Given the description of an element on the screen output the (x, y) to click on. 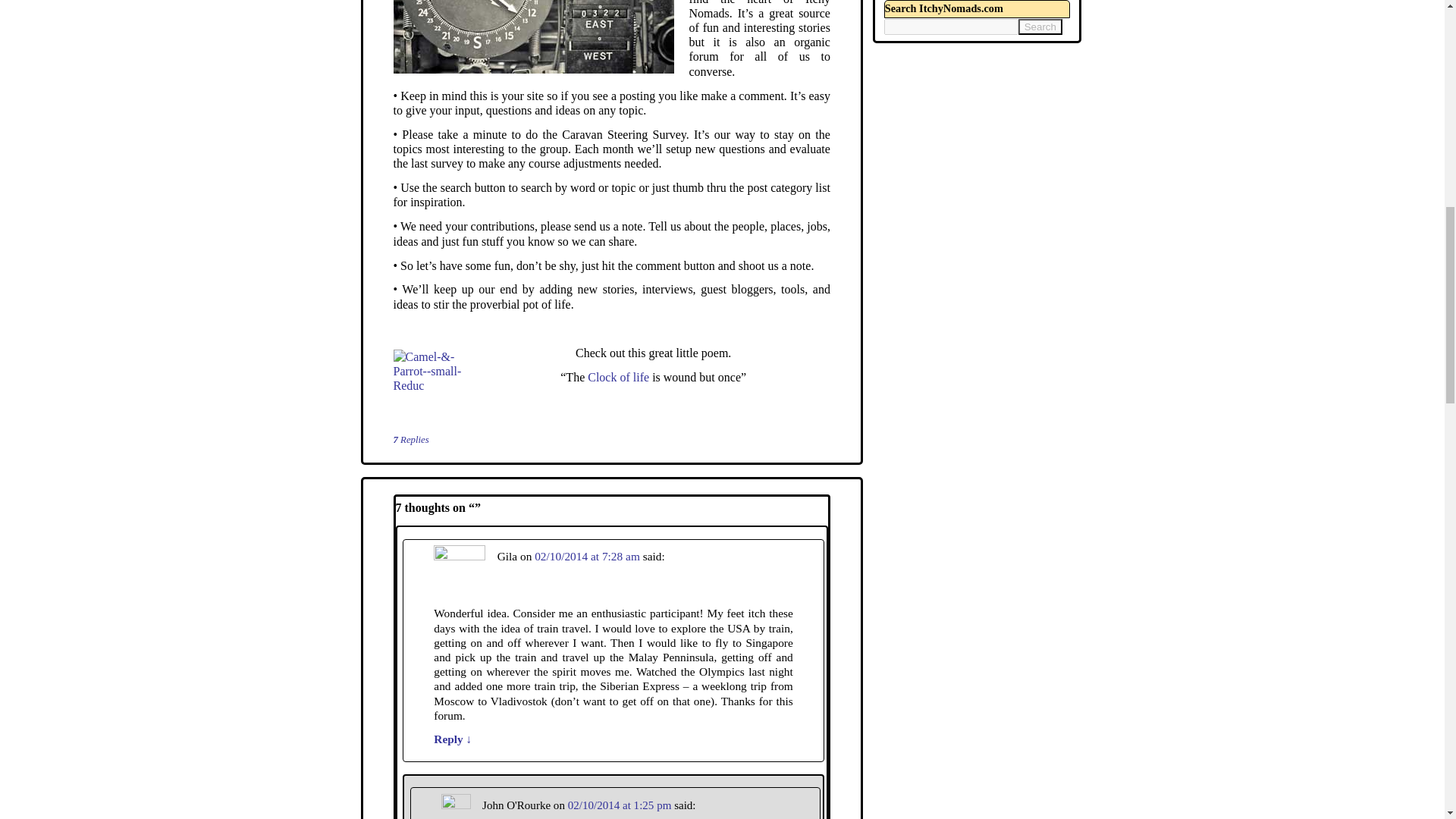
Search (1039, 26)
Clock of life (618, 377)
7 Replies (410, 439)
